Given the description of an element on the screen output the (x, y) to click on. 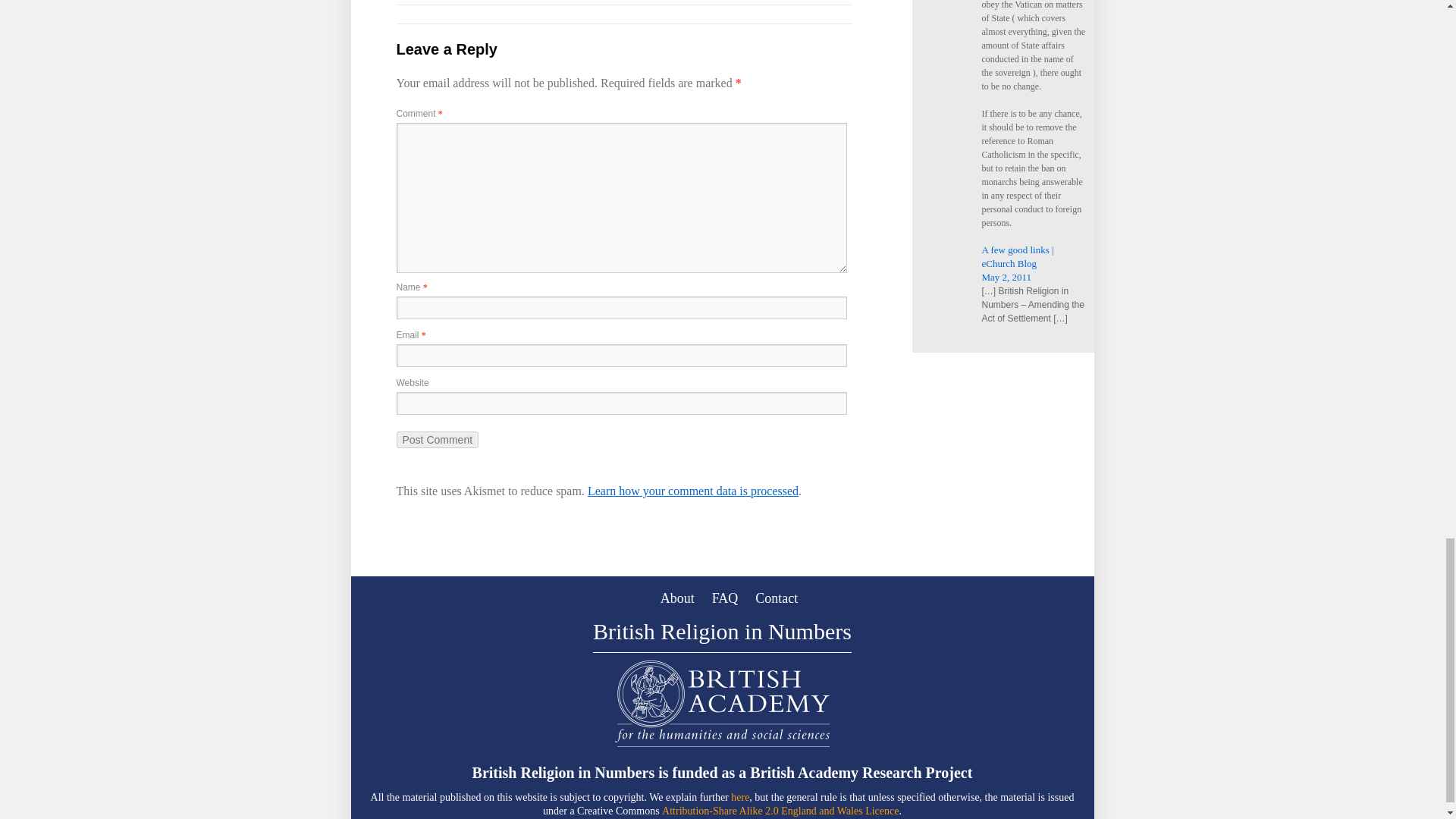
British Religion in Numbers (721, 635)
Post Comment (437, 439)
